Given the description of an element on the screen output the (x, y) to click on. 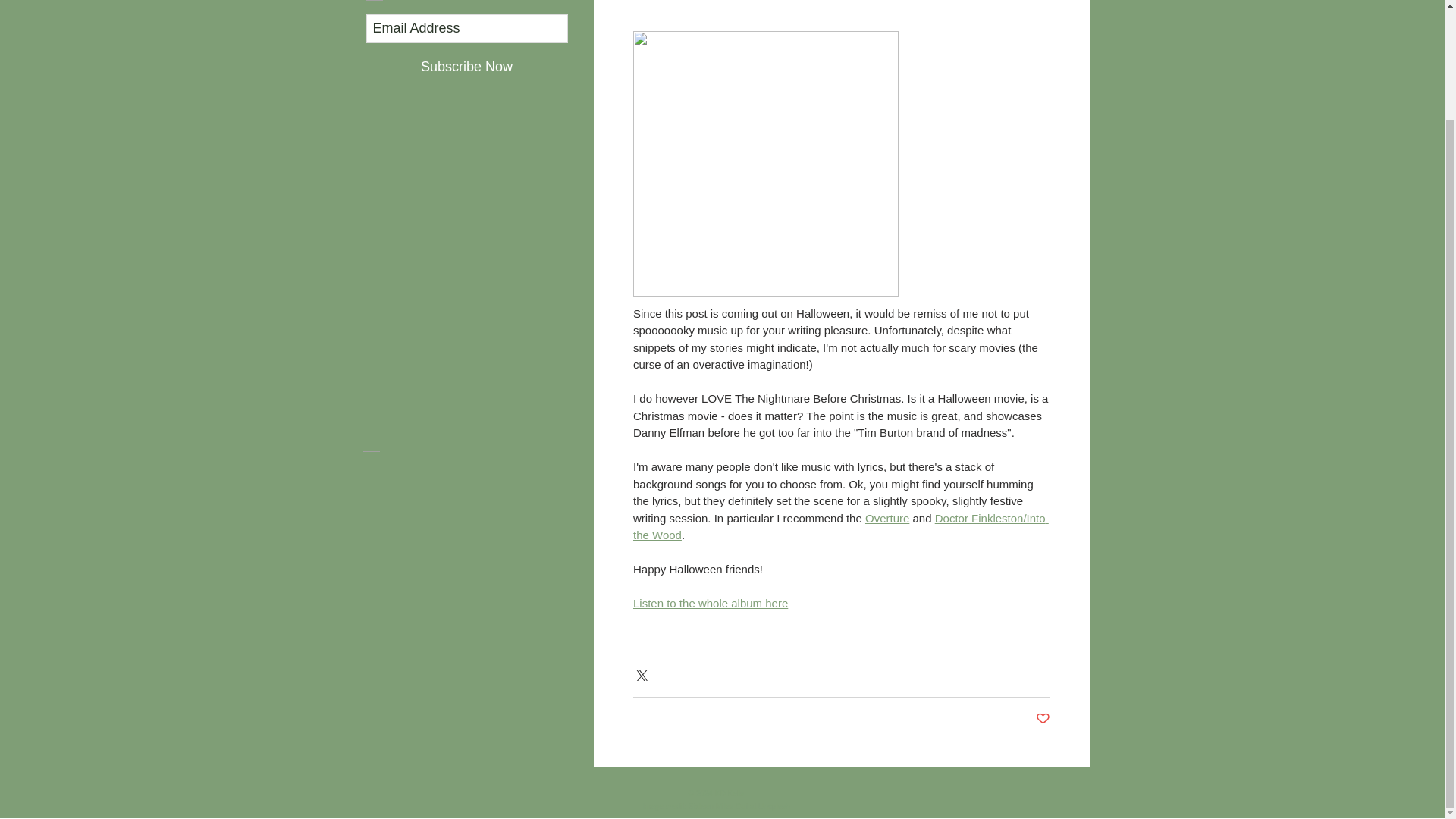
Subscribe Now (466, 66)
Overture (886, 517)
Listen to the whole album here (709, 603)
Post not marked as liked (1042, 719)
